Given the description of an element on the screen output the (x, y) to click on. 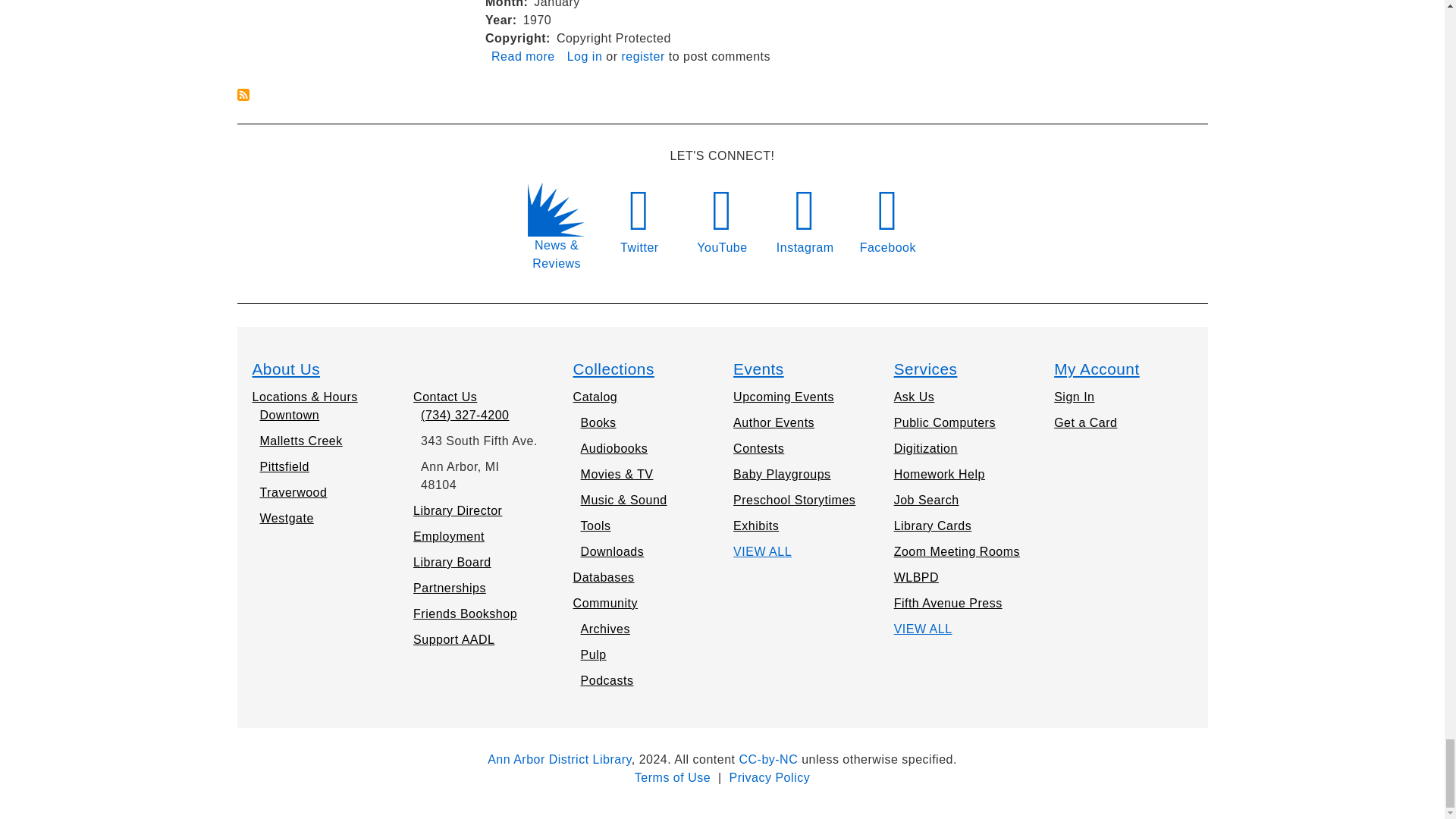
Subscribe to Grace Rogers Blake (523, 56)
register (241, 94)
Rev. David Blake Succumbs At 82 (642, 56)
Log in (523, 56)
